Given the description of an element on the screen output the (x, y) to click on. 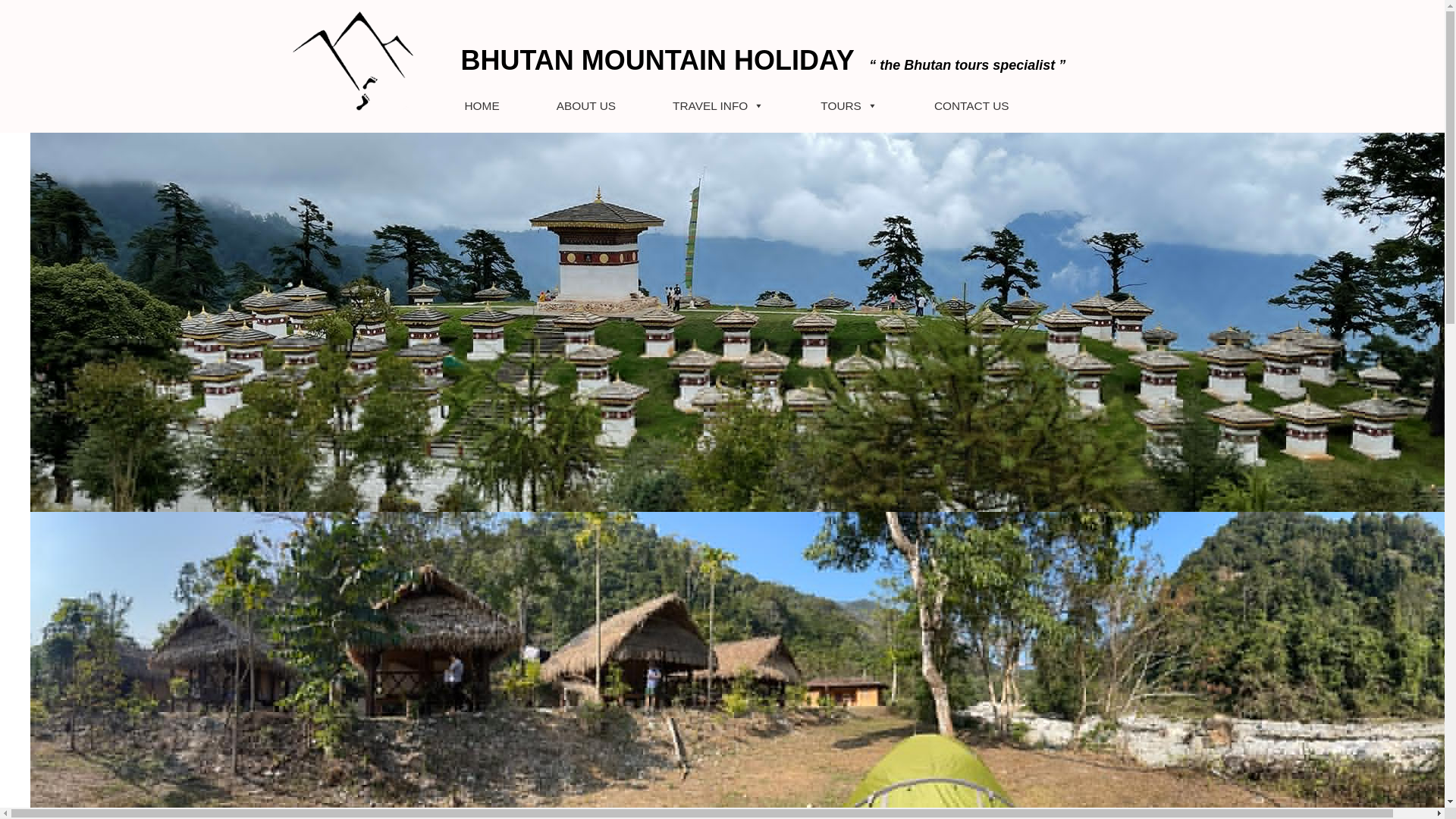
ABOUT US (585, 104)
HOME (481, 104)
CONTACT US (971, 104)
TOURS (848, 104)
TRAVEL INFO (718, 104)
